Given the description of an element on the screen output the (x, y) to click on. 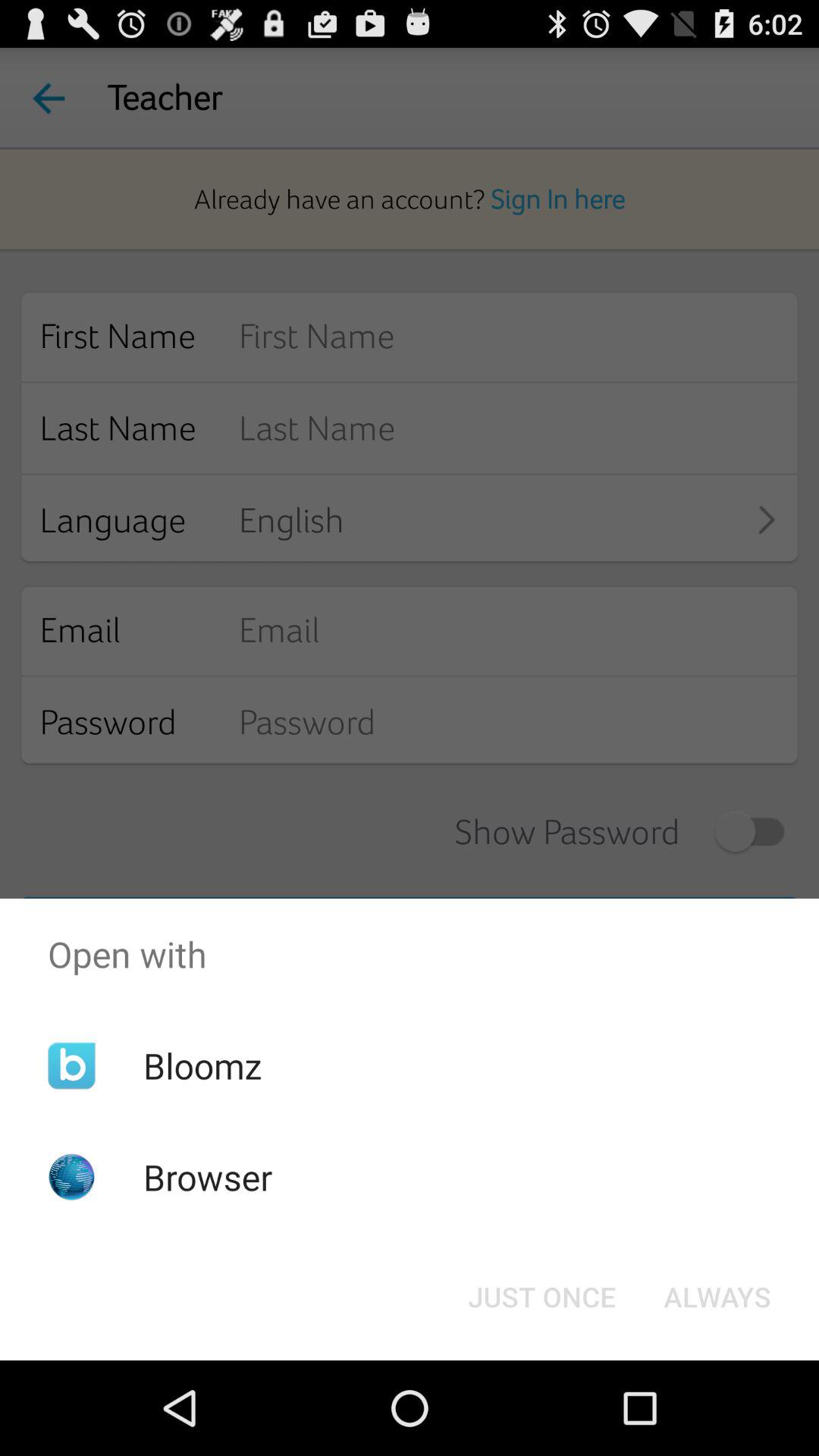
launch the just once at the bottom (541, 1296)
